Given the description of an element on the screen output the (x, y) to click on. 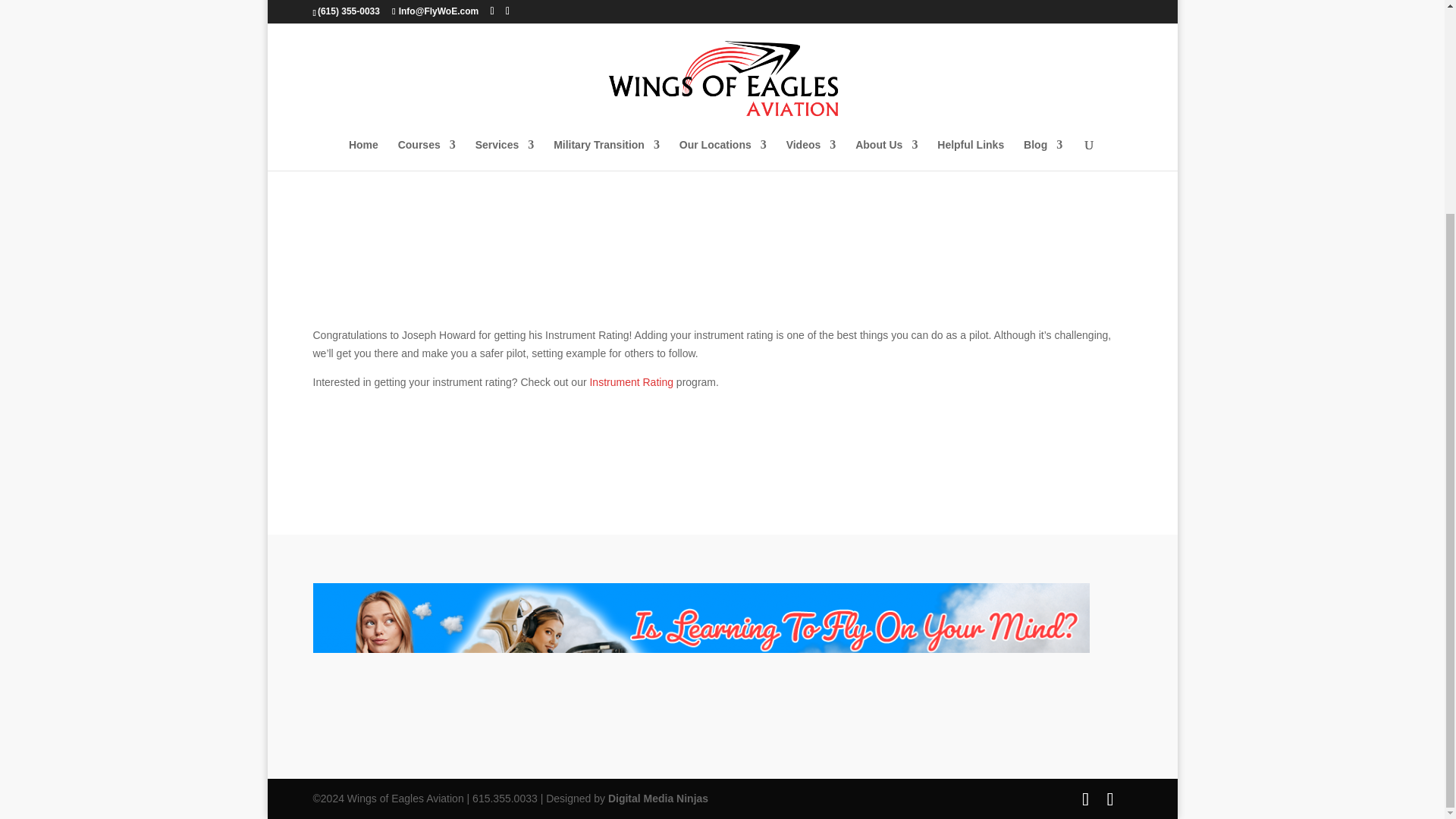
Digital Media Ninjas (657, 798)
Instrument Rating (630, 381)
